Given the description of an element on the screen output the (x, y) to click on. 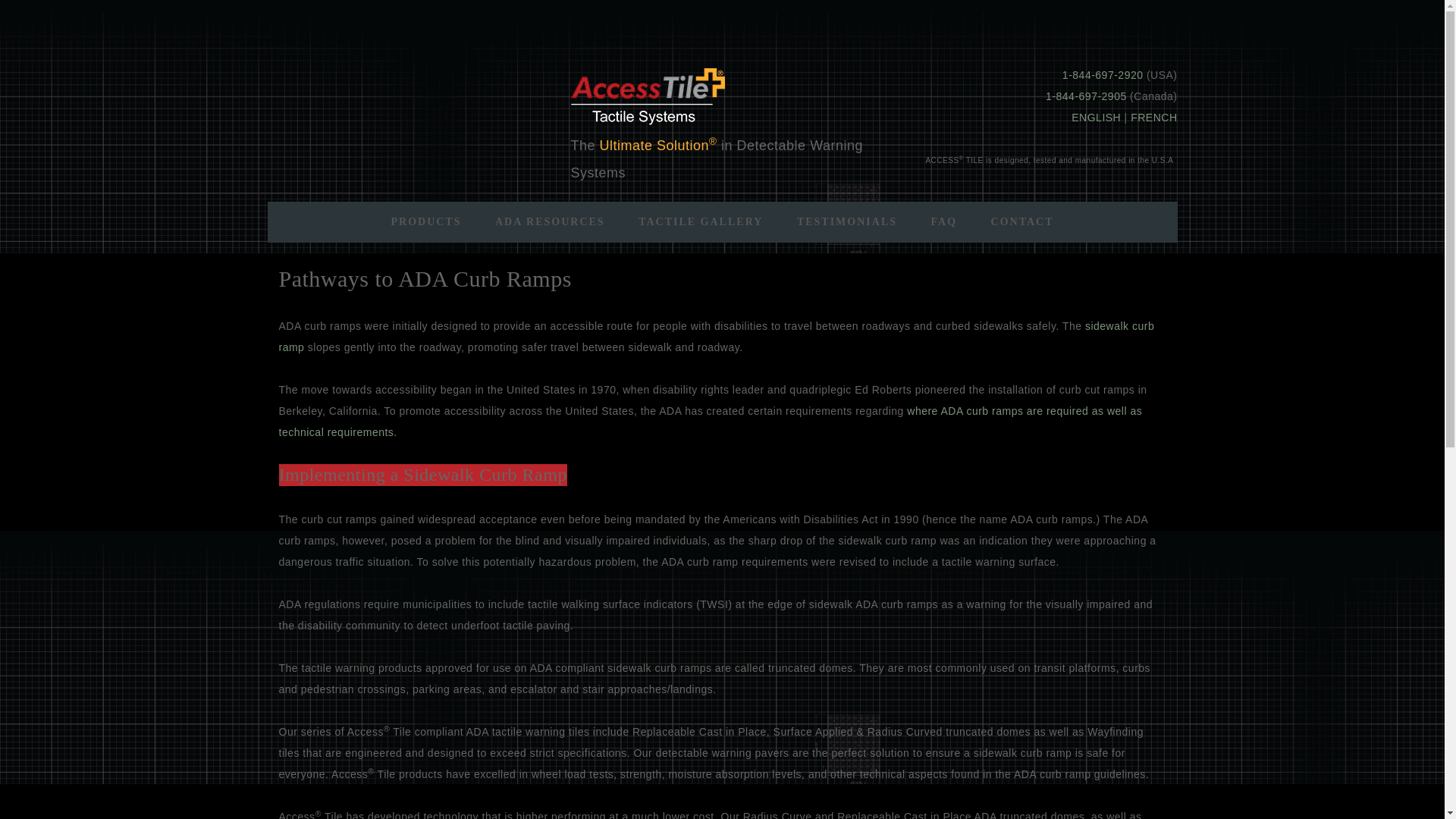
FRENCH (1153, 117)
1-844-697-2905 (1085, 96)
TACTILE GALLERY (700, 221)
ENGLISH (1096, 117)
CONTACT (1021, 221)
TESTIMONIALS (846, 221)
ADA RESOURCES (550, 221)
1-844-697-2920 (1102, 74)
PRODUCTS (425, 221)
FAQ (943, 221)
